Given the description of an element on the screen output the (x, y) to click on. 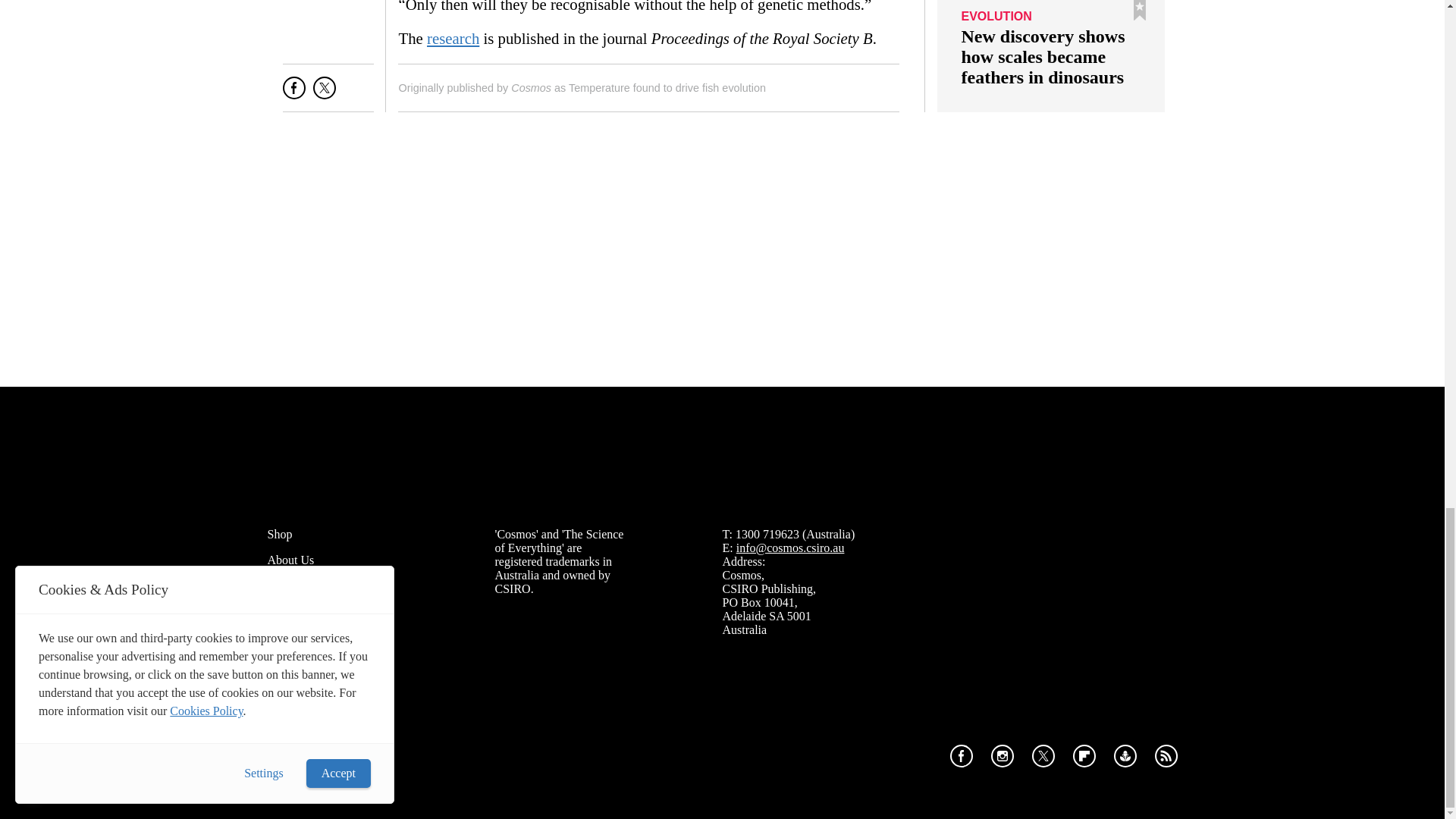
Temperature found to drive fish evolution (667, 87)
Share on Facebook (293, 93)
Tweet (324, 93)
